Given the description of an element on the screen output the (x, y) to click on. 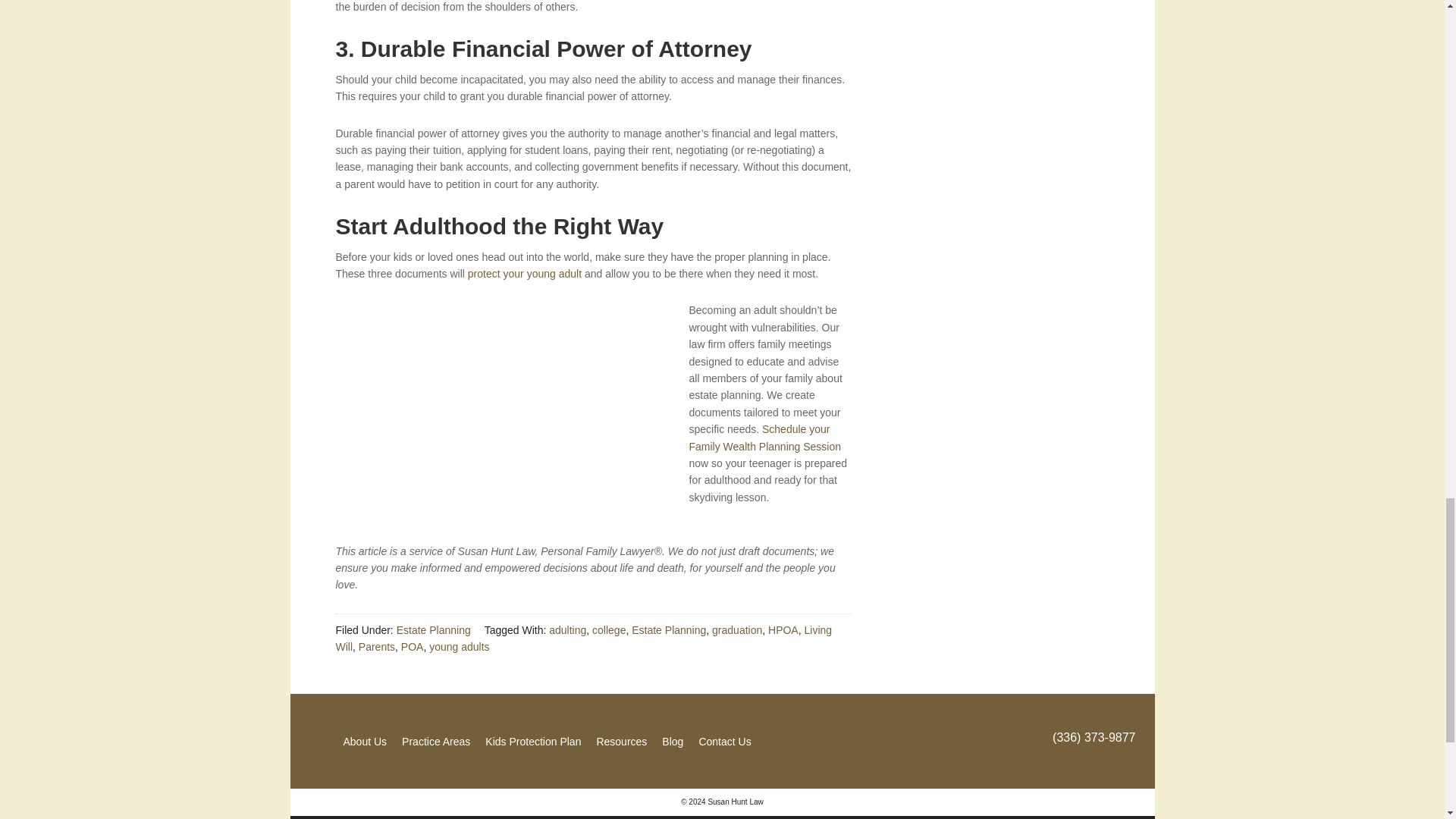
Schedule your Family Wealth Planning Session (764, 437)
college (609, 630)
Estate Planning (668, 630)
Estate Planning (433, 630)
protect your young adult (523, 273)
adulting (567, 630)
